Given the description of an element on the screen output the (x, y) to click on. 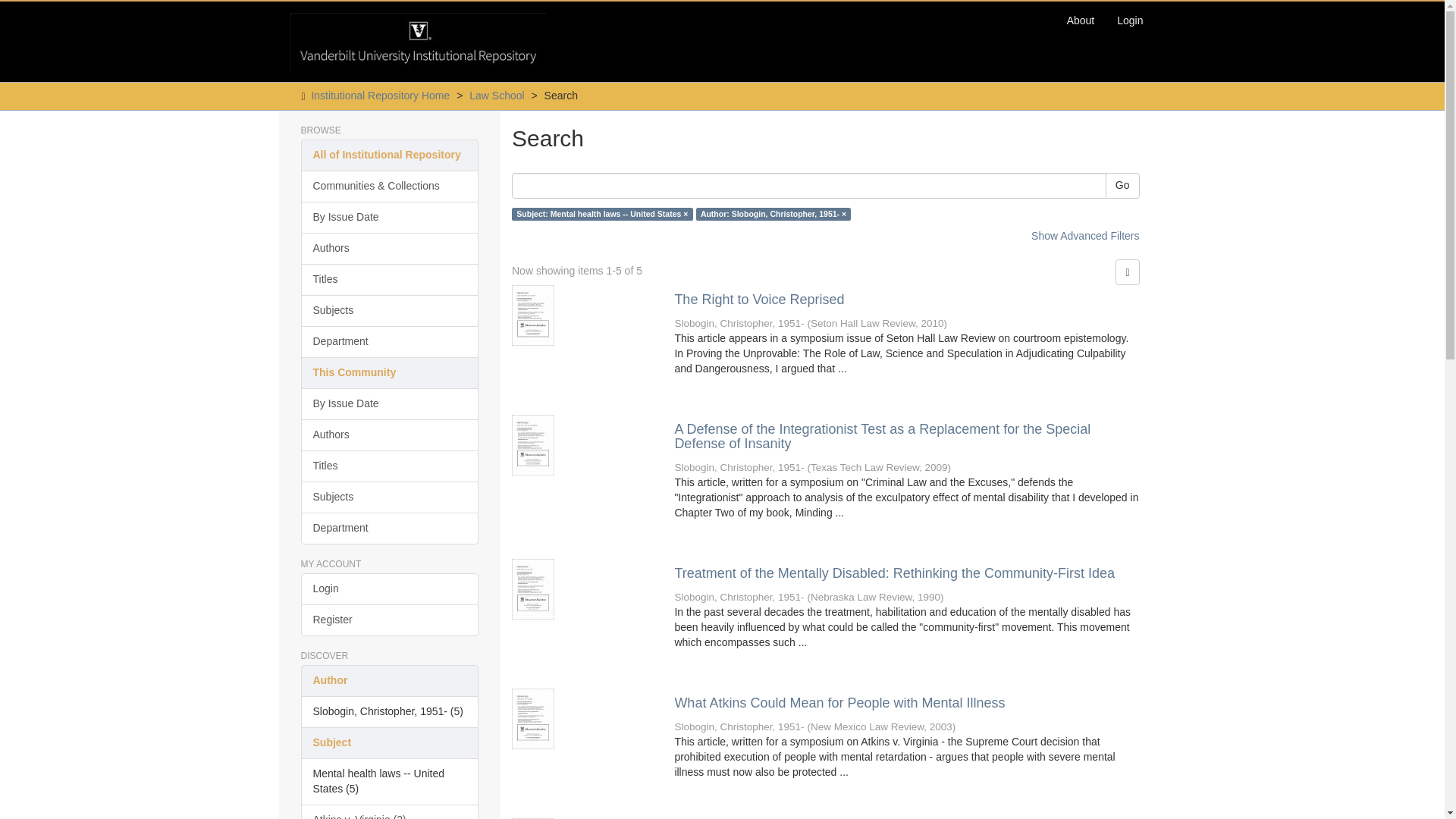
By Issue Date (389, 217)
Department (389, 528)
Titles (389, 466)
Login (1129, 20)
About (1080, 20)
This Community (389, 373)
Institutional Repository Home (380, 95)
By Issue Date (389, 404)
Subjects (389, 497)
Law School (496, 95)
